Given the description of an element on the screen output the (x, y) to click on. 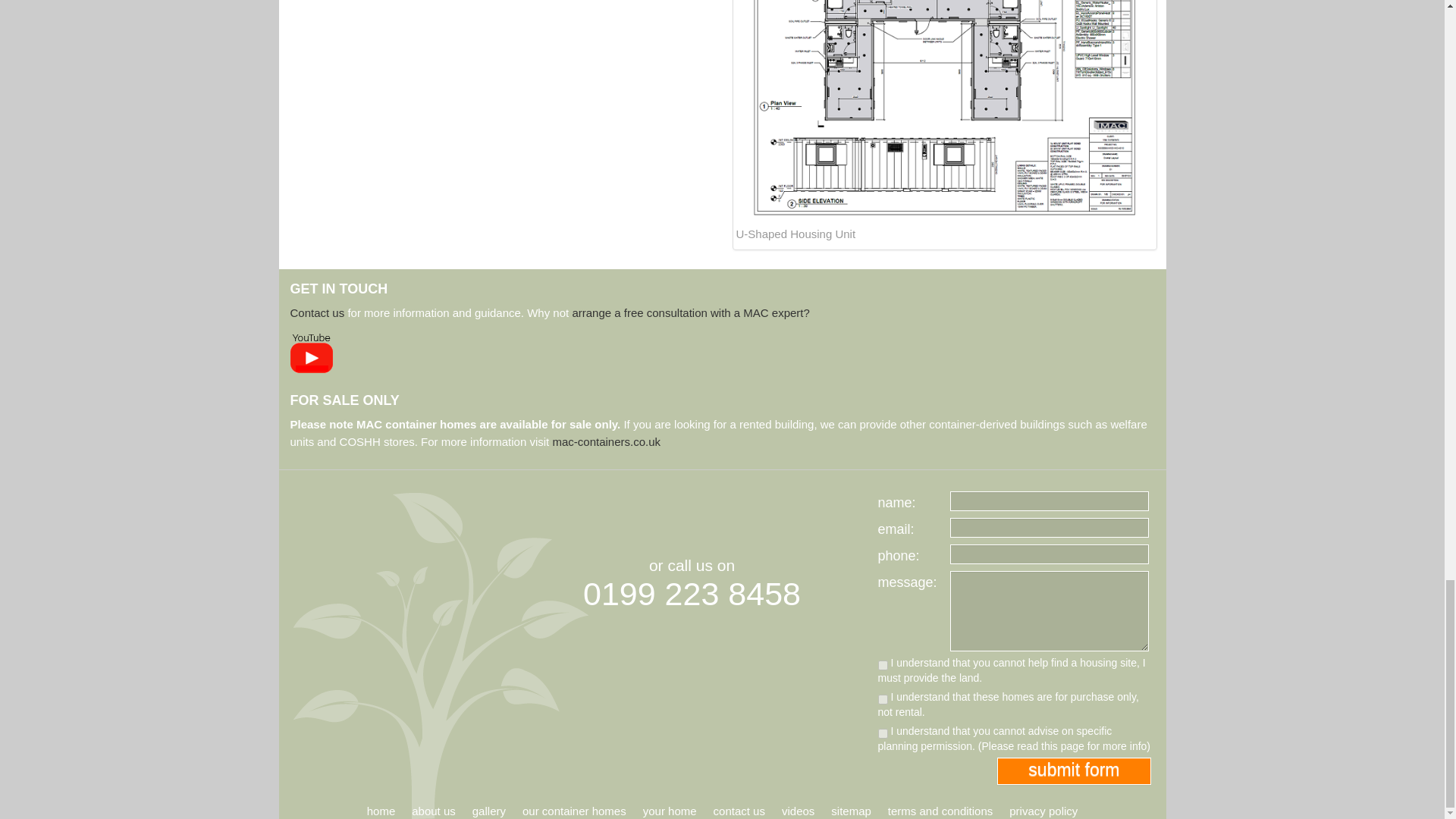
on (882, 733)
on (882, 699)
on (882, 665)
